Given the description of an element on the screen output the (x, y) to click on. 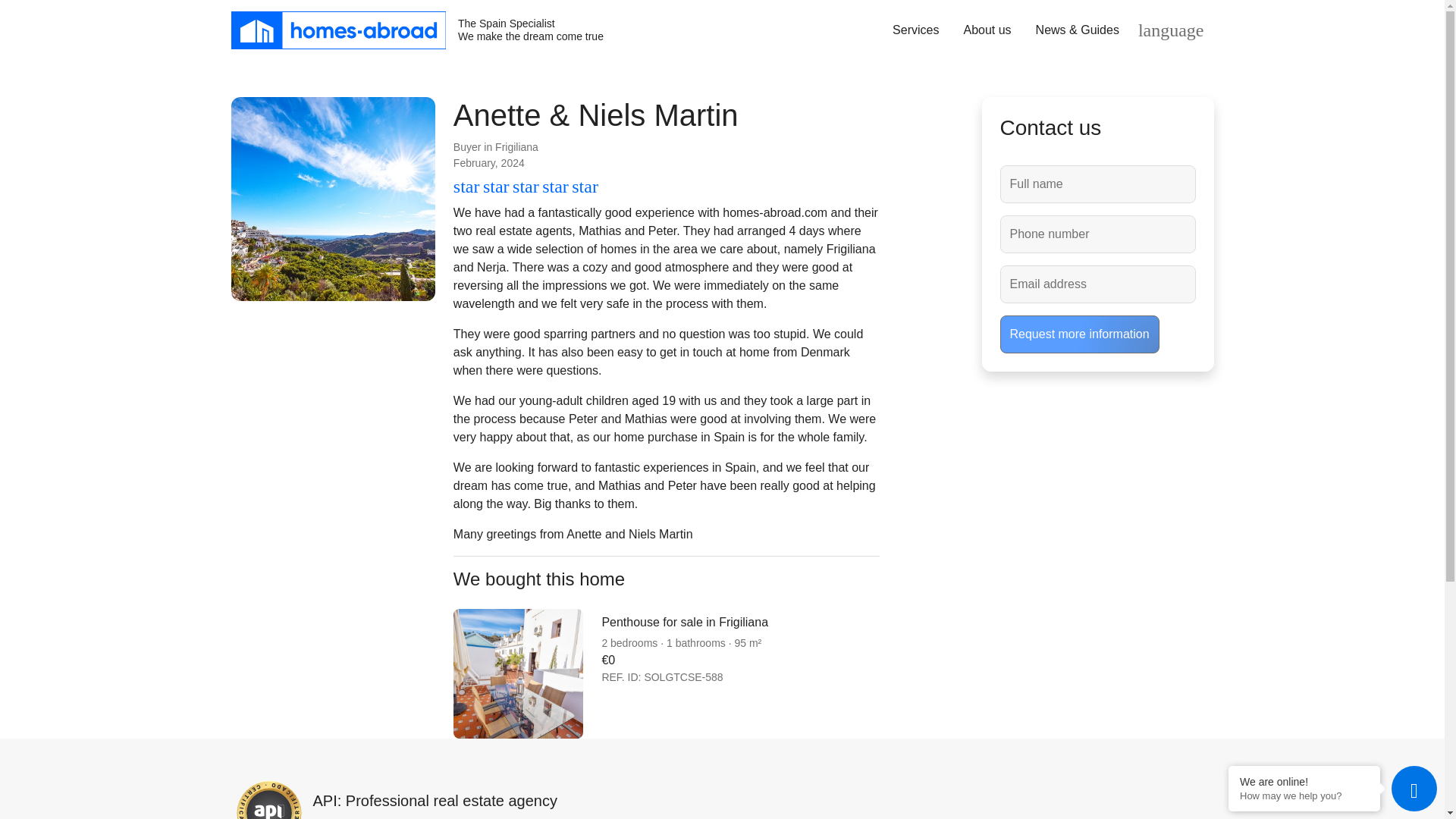
Home (416, 30)
language (1172, 29)
Services (915, 30)
How may we help you? (1304, 795)
About us (416, 30)
We are online! (986, 30)
Request more information (1304, 781)
